Given the description of an element on the screen output the (x, y) to click on. 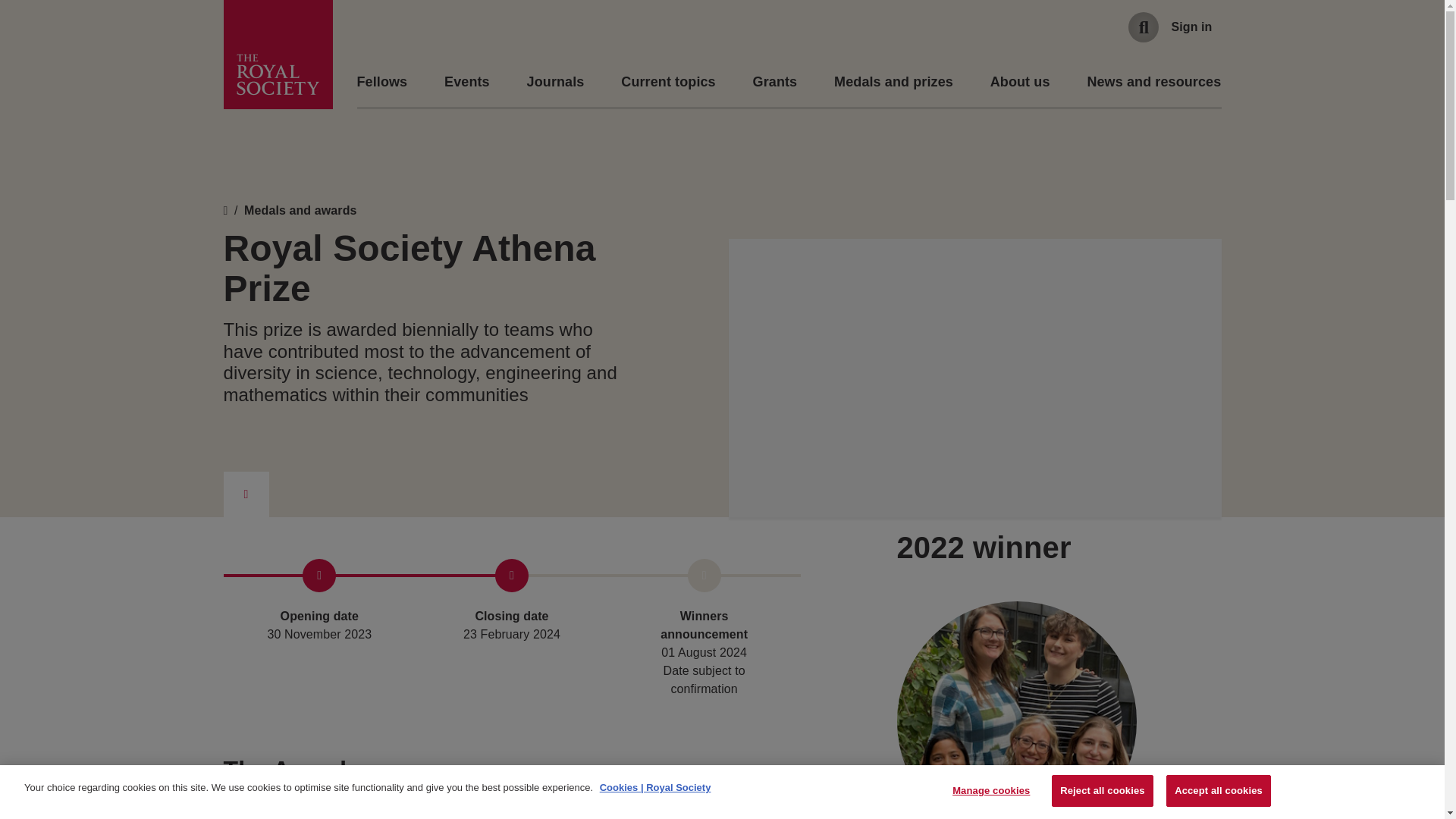
Fellows (381, 81)
Grants (774, 81)
Events (466, 81)
Current topics (667, 81)
Journals (556, 81)
